Given the description of an element on the screen output the (x, y) to click on. 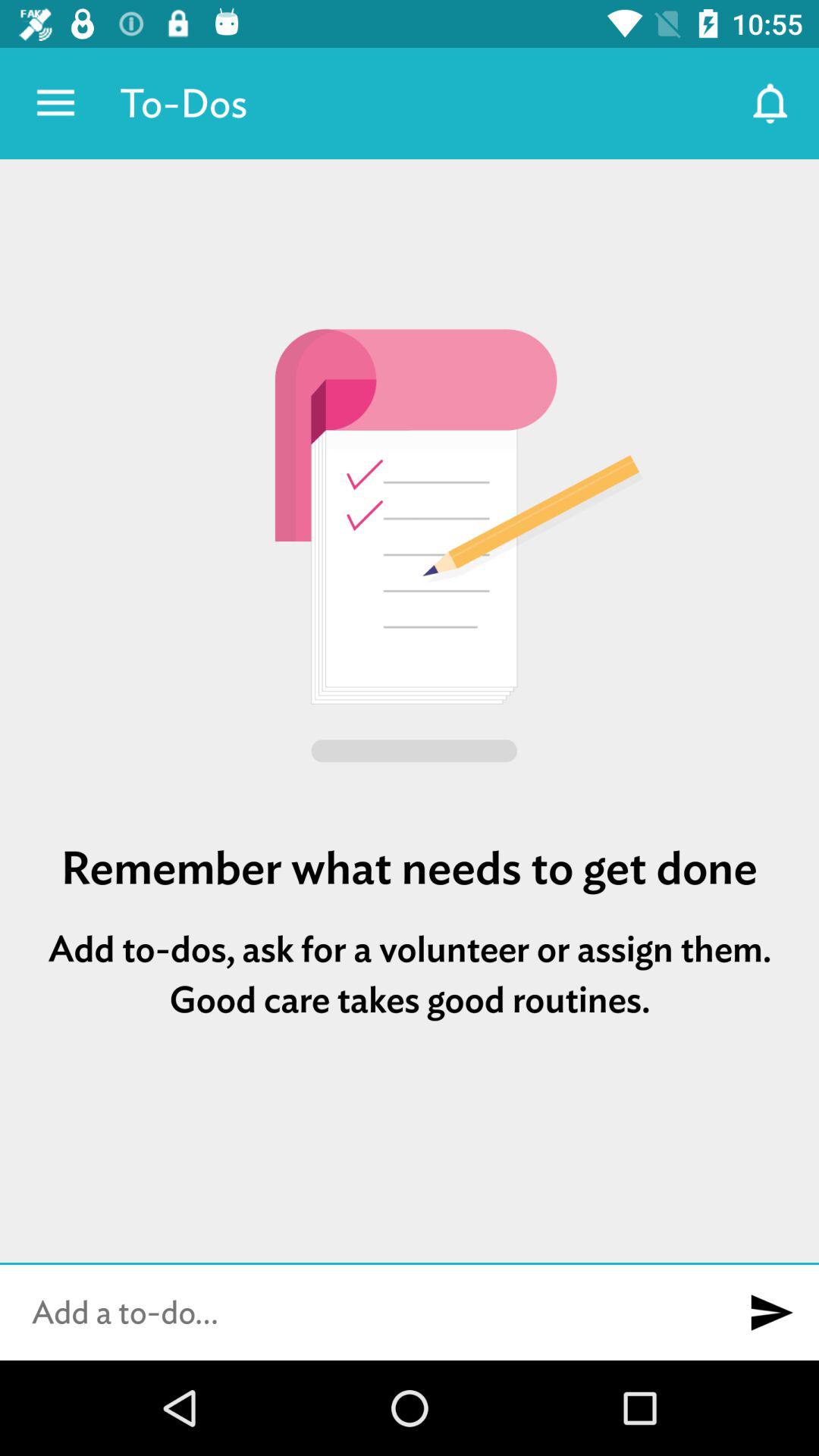
submit text (771, 1312)
